Given the description of an element on the screen output the (x, y) to click on. 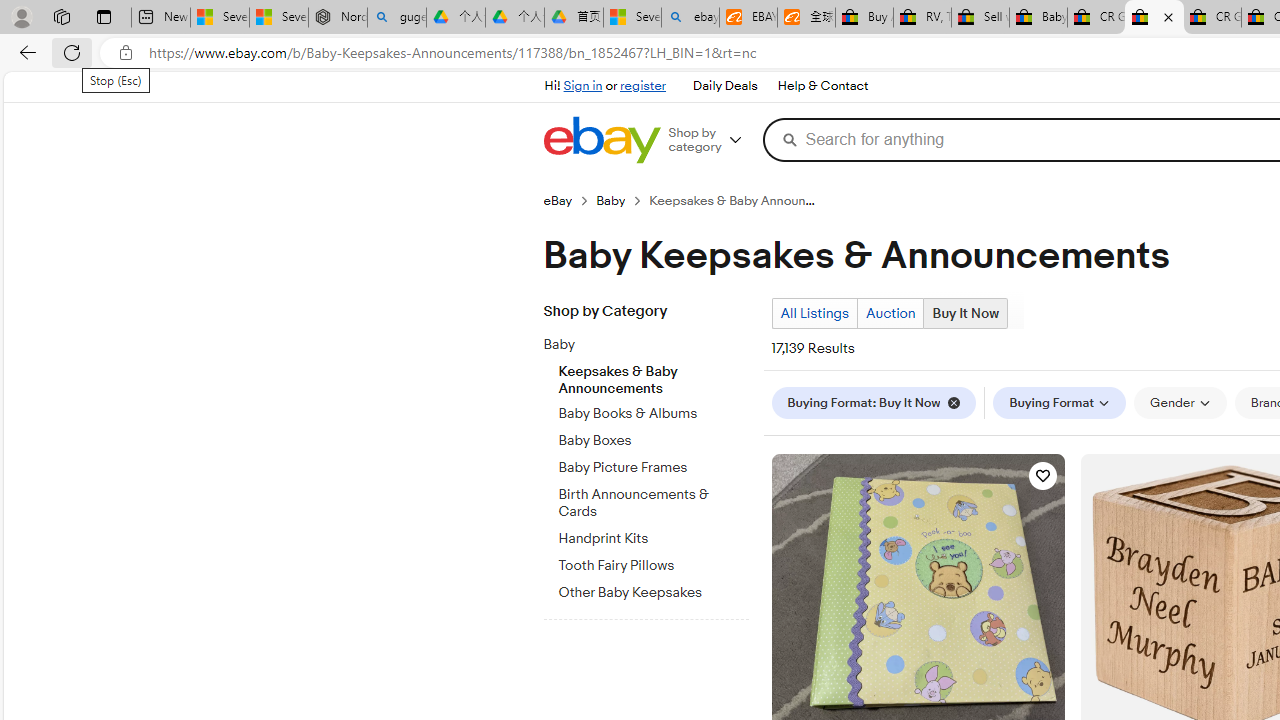
eBay (569, 200)
Workspaces (61, 16)
Baby Picture Frames (653, 468)
All Listings (814, 313)
Handprint Kits (653, 535)
Auction (890, 313)
Other Baby Keepsakes (653, 589)
Gender (1180, 402)
register (642, 85)
Personal Profile (21, 16)
Auction (890, 313)
Refresh (72, 52)
Buy Auto Parts & Accessories | eBay (864, 17)
Baby Keepsakes & Announcements for sale | eBay (1154, 17)
